Given the description of an element on the screen output the (x, y) to click on. 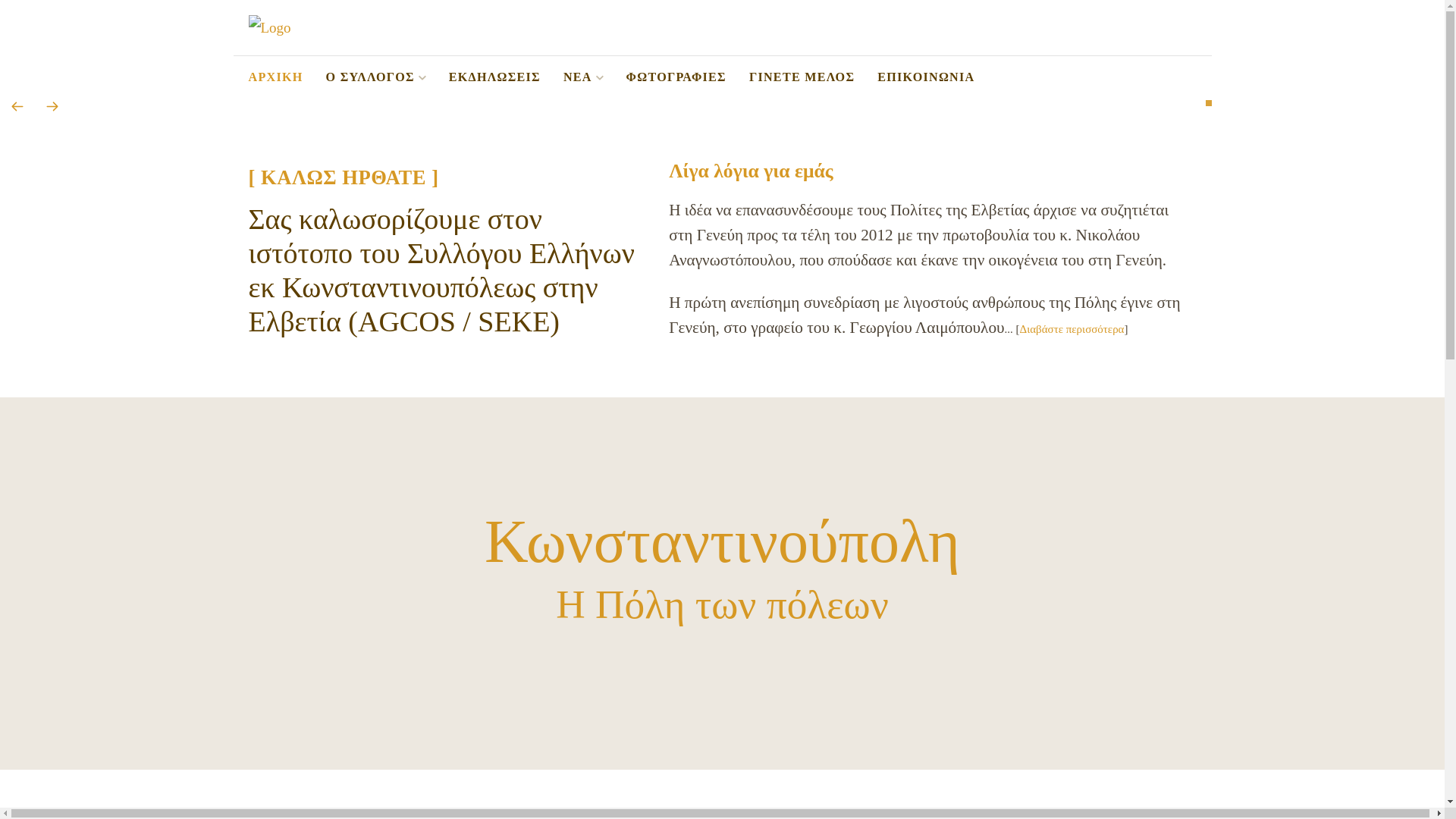
Facebook Element type: text (1185, 77)
